Given the description of an element on the screen output the (x, y) to click on. 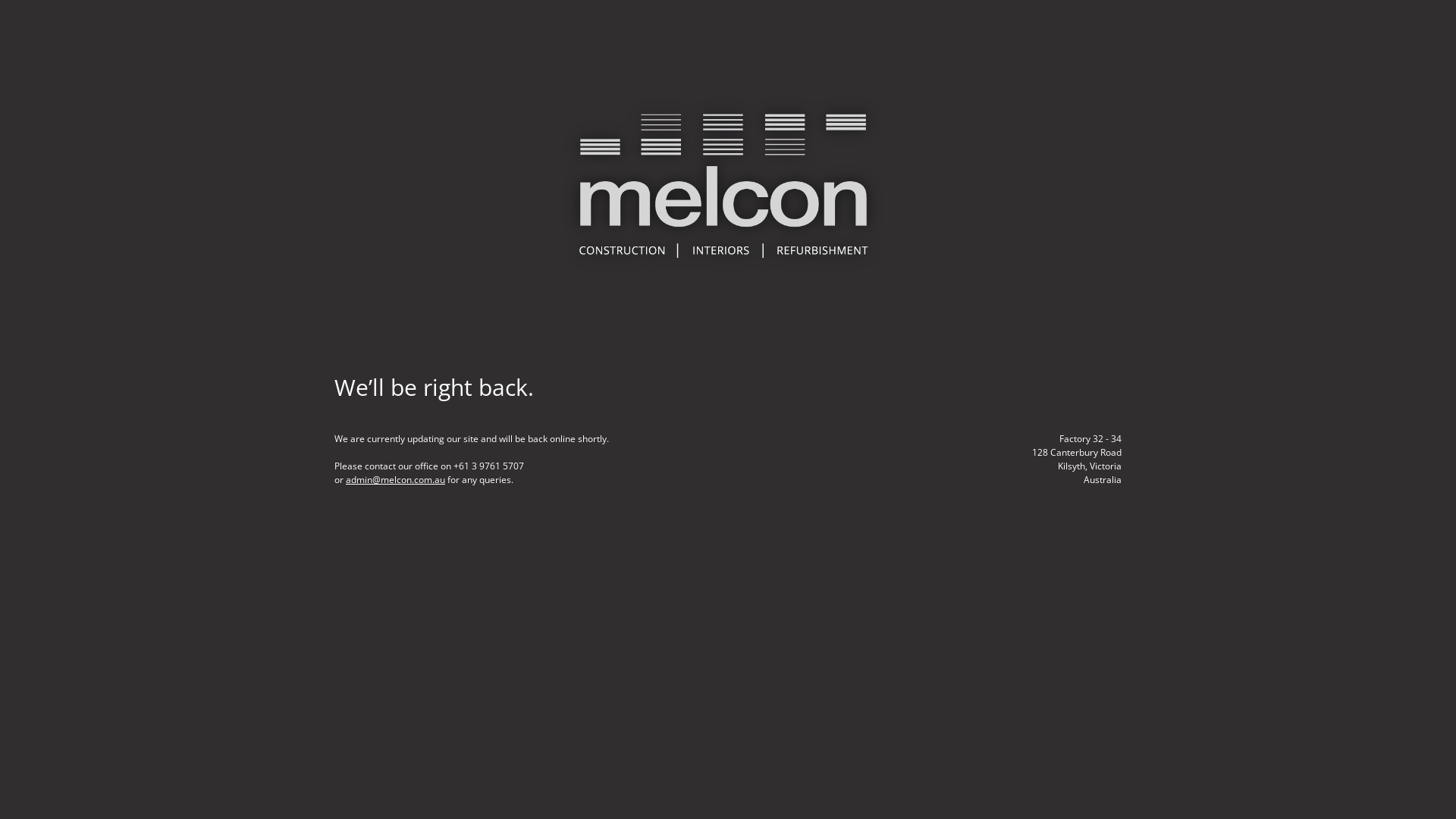
melcon-logo Element type: hover (727, 185)
admin@melcon.com.au Element type: text (395, 479)
